Given the description of an element on the screen output the (x, y) to click on. 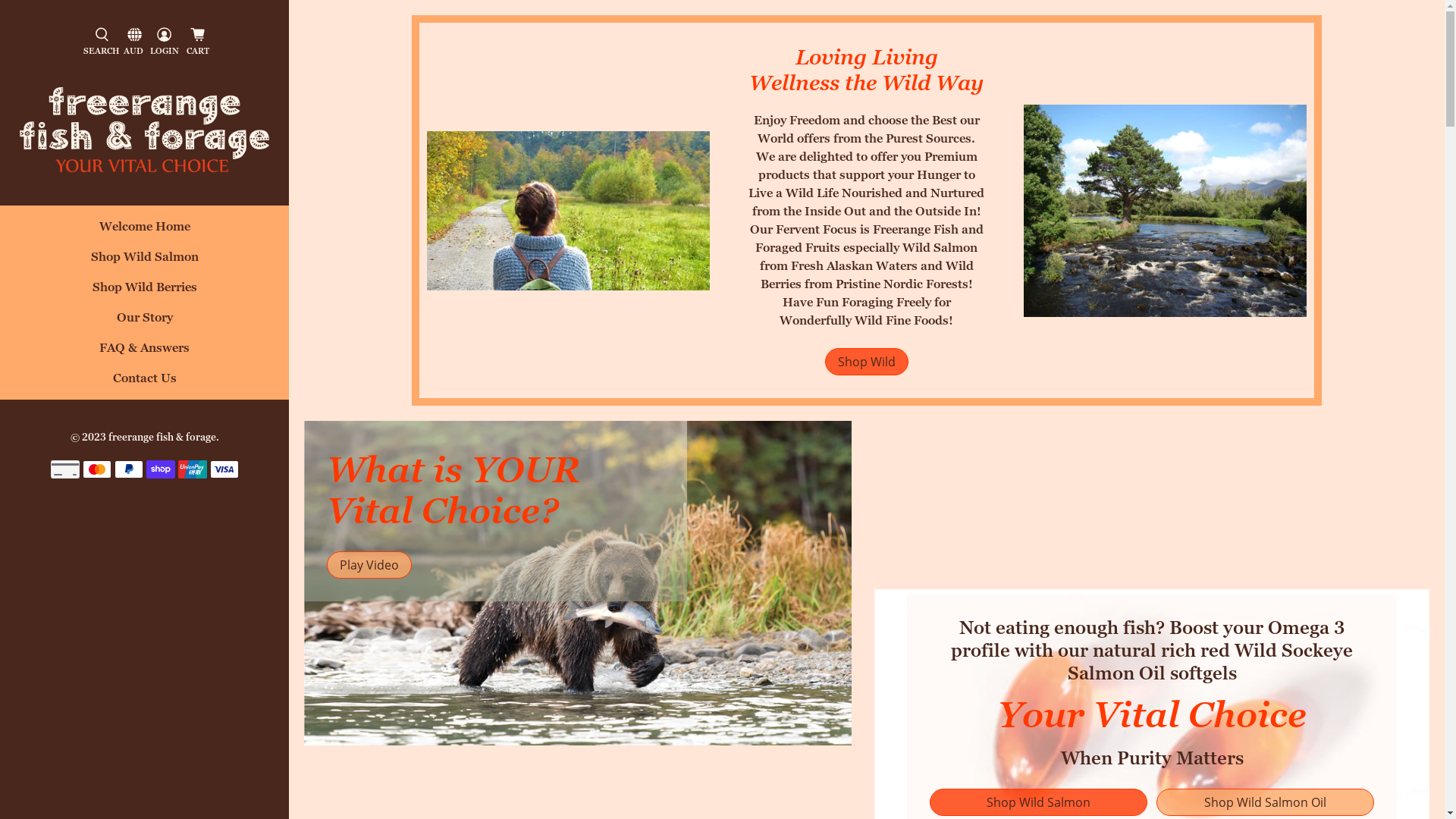
Shop Wild Element type: text (866, 361)
freerange fish & forage Element type: hover (144, 129)
Shop Wild Salmon Oil Element type: text (1265, 801)
Shop Wild Berries Element type: text (144, 293)
CART Element type: text (197, 41)
LOGIN Element type: text (164, 42)
FAQ & Answers Element type: text (144, 353)
Contact Us Element type: text (144, 384)
Play Video Element type: text (368, 564)
Welcome Home Element type: text (144, 232)
SEARCH Element type: text (101, 42)
Our Story Element type: text (144, 323)
Shop Wild Salmon Element type: text (1038, 801)
Shop Wild Salmon Element type: text (144, 262)
freerange fish & forage Element type: text (161, 436)
